Given the description of an element on the screen output the (x, y) to click on. 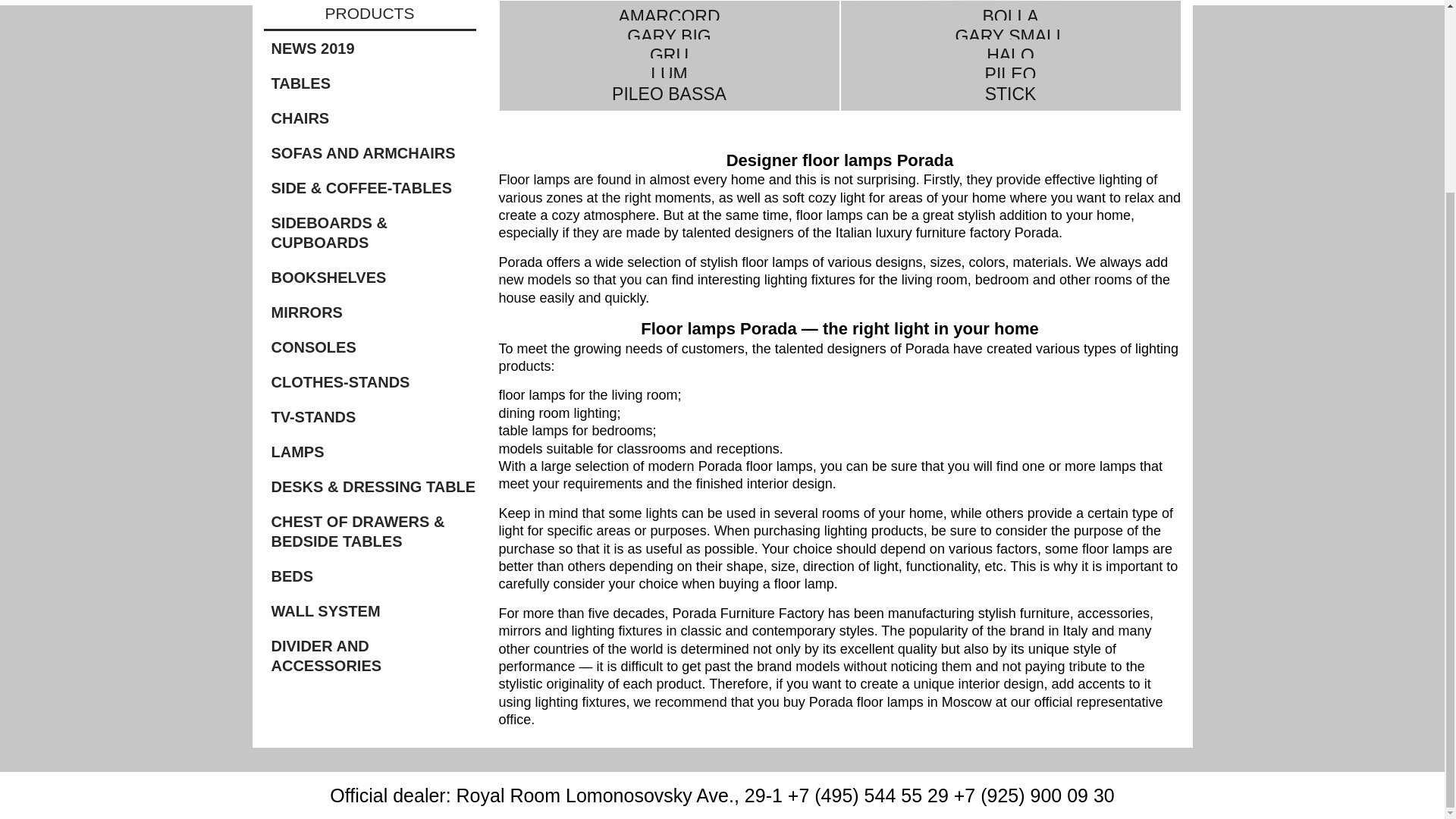
SOFAS AND ARMCHAIRS (373, 152)
BOLLA (1009, 16)
GRU (668, 63)
LUM (668, 81)
DIVIDER AND ACCESSORIES (373, 655)
GARY SMALL (1009, 43)
CHAIRS (373, 117)
MIRRORS (373, 312)
GARY BIG (668, 43)
TV-STANDS (373, 416)
